Given the description of an element on the screen output the (x, y) to click on. 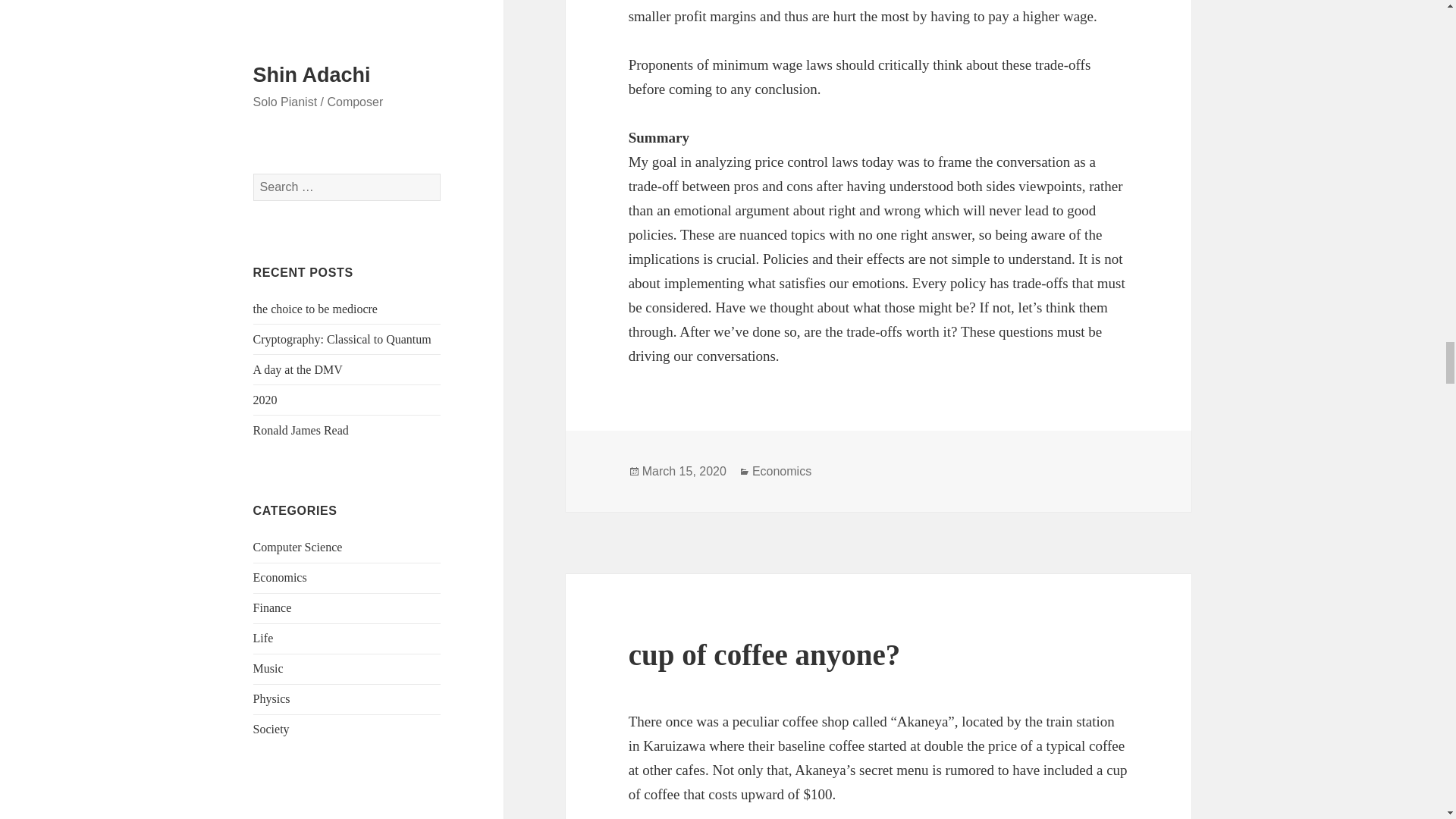
Economics (781, 471)
cup of coffee anyone? (764, 654)
March 15, 2020 (684, 471)
